Given the description of an element on the screen output the (x, y) to click on. 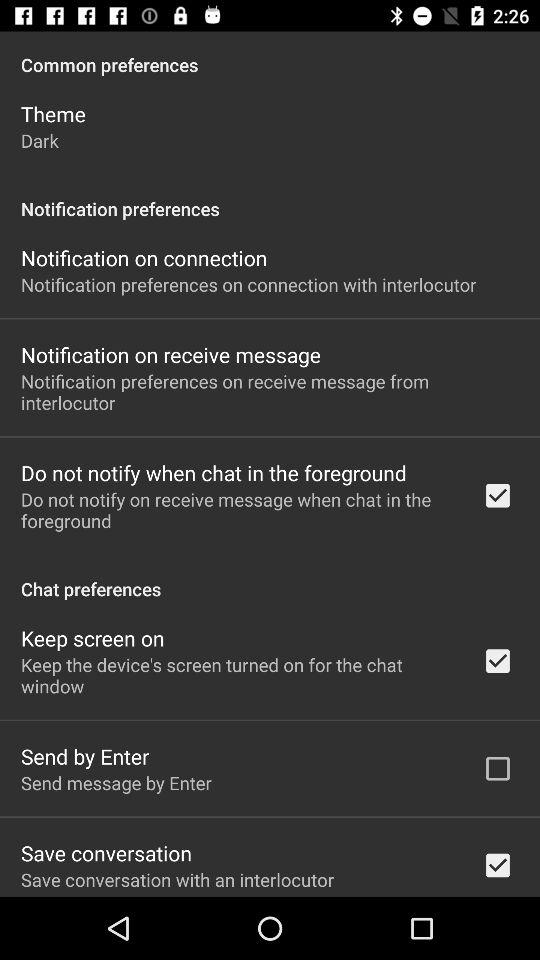
turn off theme app (53, 113)
